Given the description of an element on the screen output the (x, y) to click on. 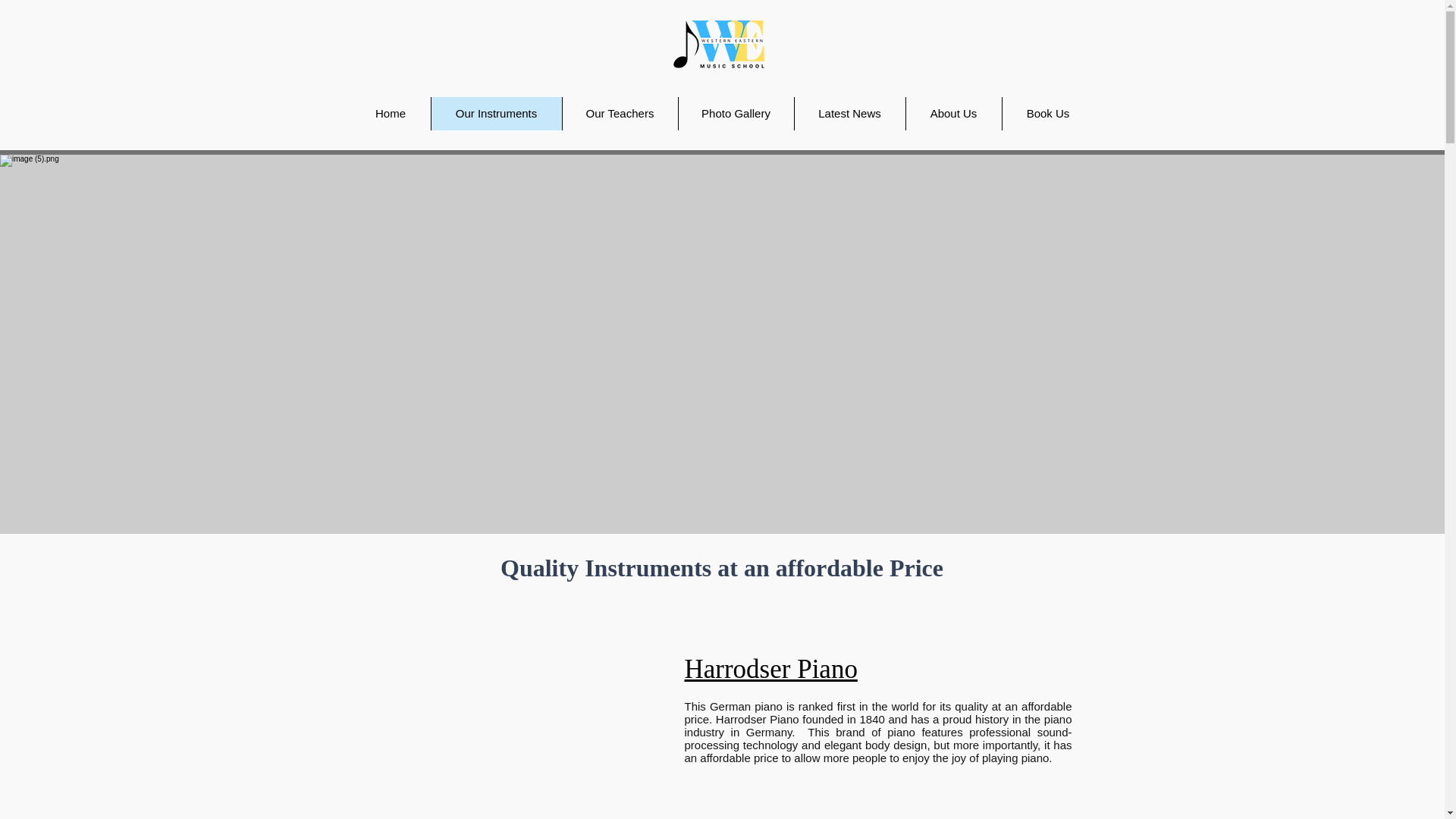
Latest News (848, 113)
Home (389, 113)
Book Us (1047, 113)
Our Teachers (618, 113)
Photo Gallery (735, 113)
Our Instruments (496, 113)
About Us (953, 113)
Harrodser Piano (770, 668)
